Given the description of an element on the screen output the (x, y) to click on. 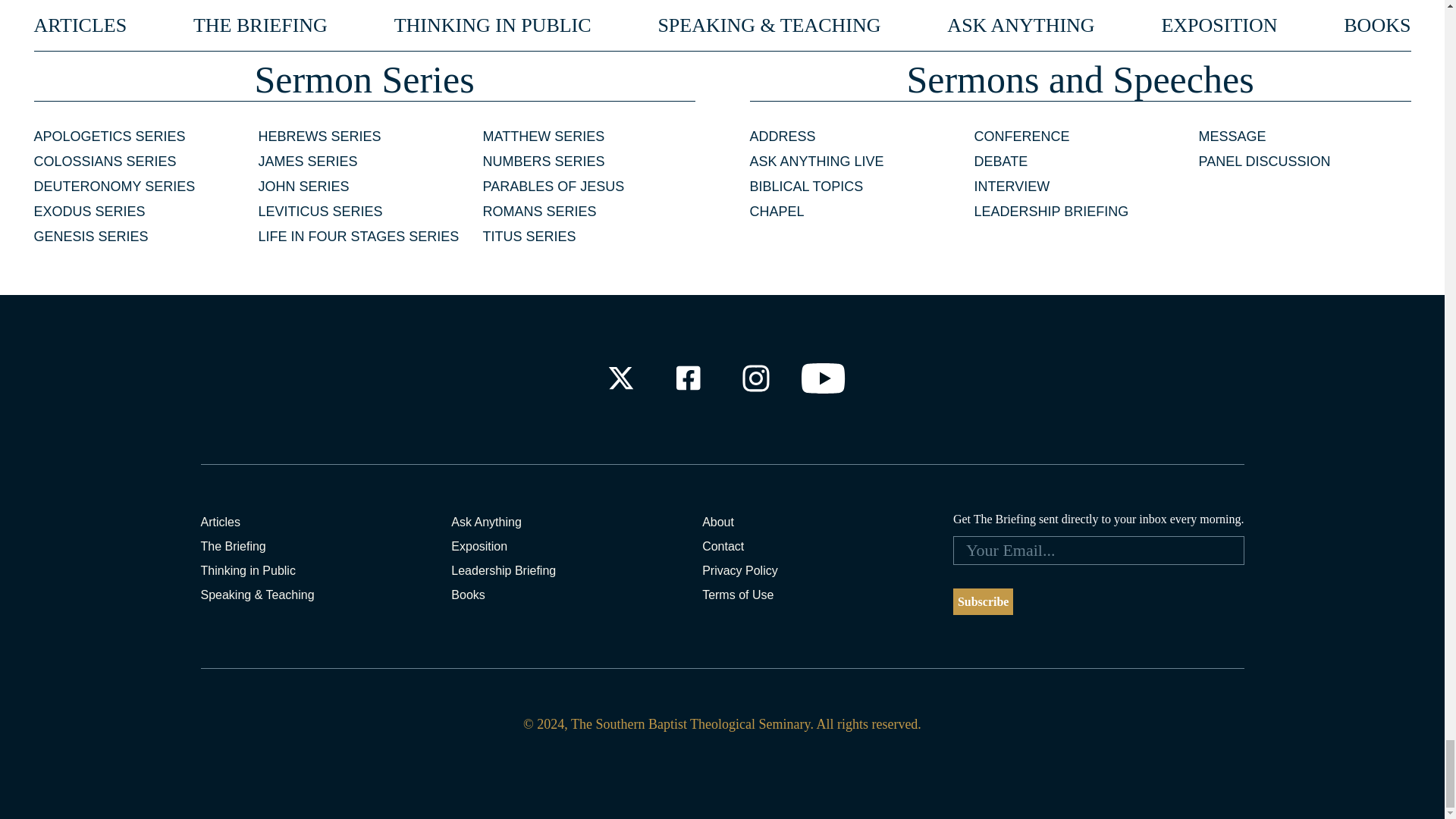
Check out our Facebook Profile (687, 377)
Check out our Instagram Profile (755, 377)
Subscribe (983, 601)
Check out our Youtube Channel (822, 377)
Check out our X Profile (620, 377)
